Given the description of an element on the screen output the (x, y) to click on. 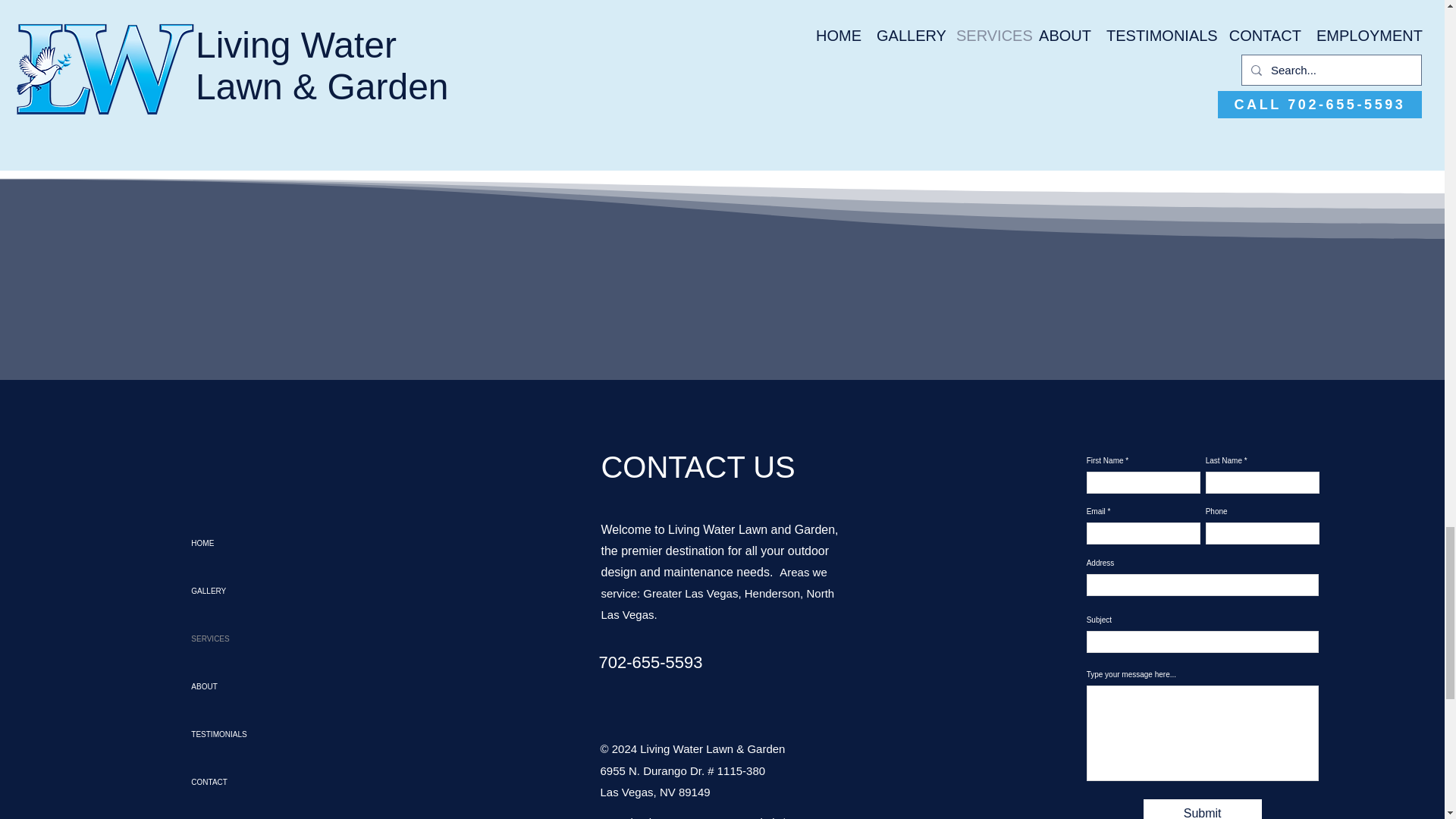
SERVICES (244, 638)
GALLERY (244, 591)
HOME (244, 543)
